Given the description of an element on the screen output the (x, y) to click on. 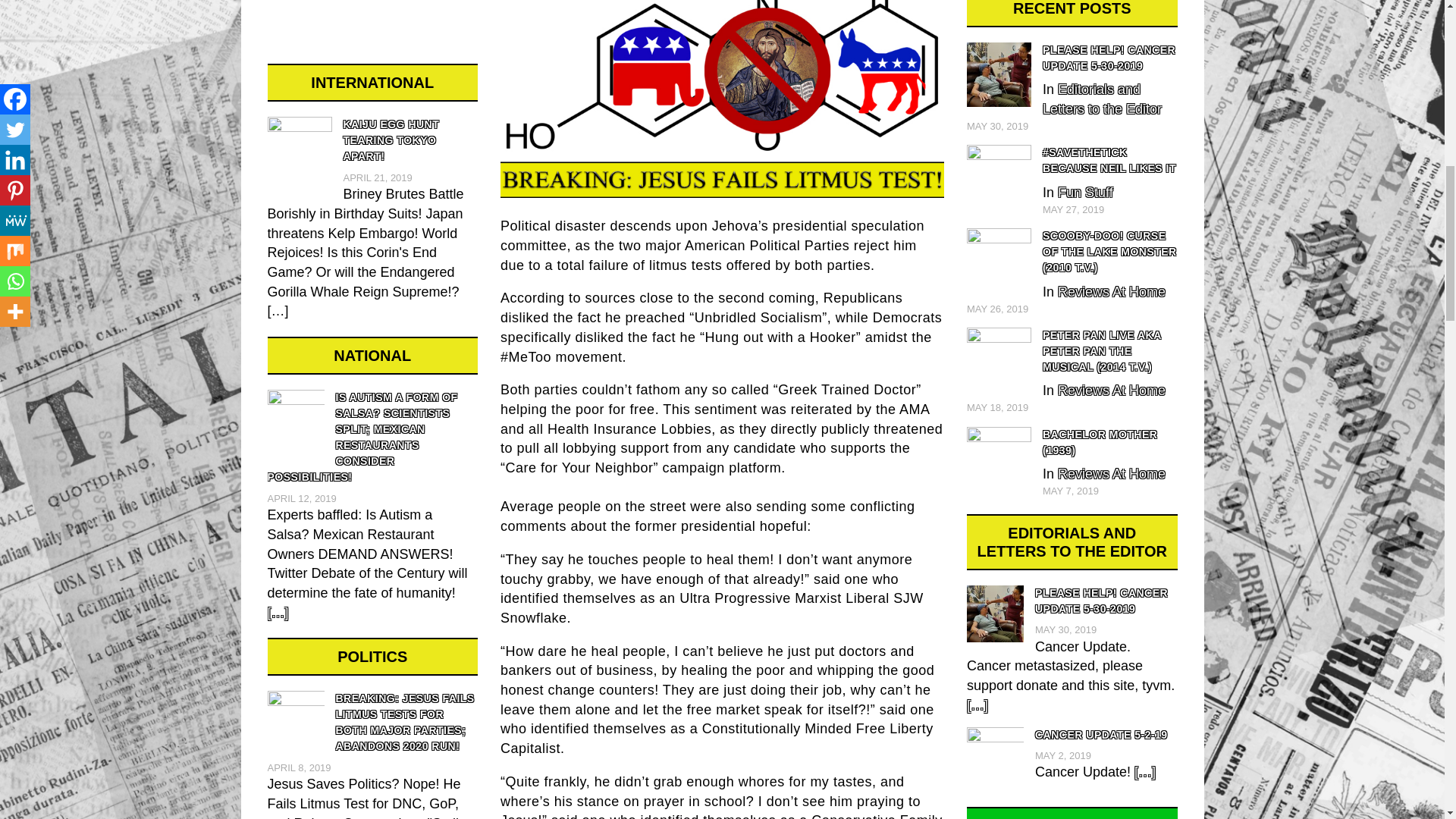
KAIJU EGG HUNT TEARING TOKYO APART! (371, 140)
